Given the description of an element on the screen output the (x, y) to click on. 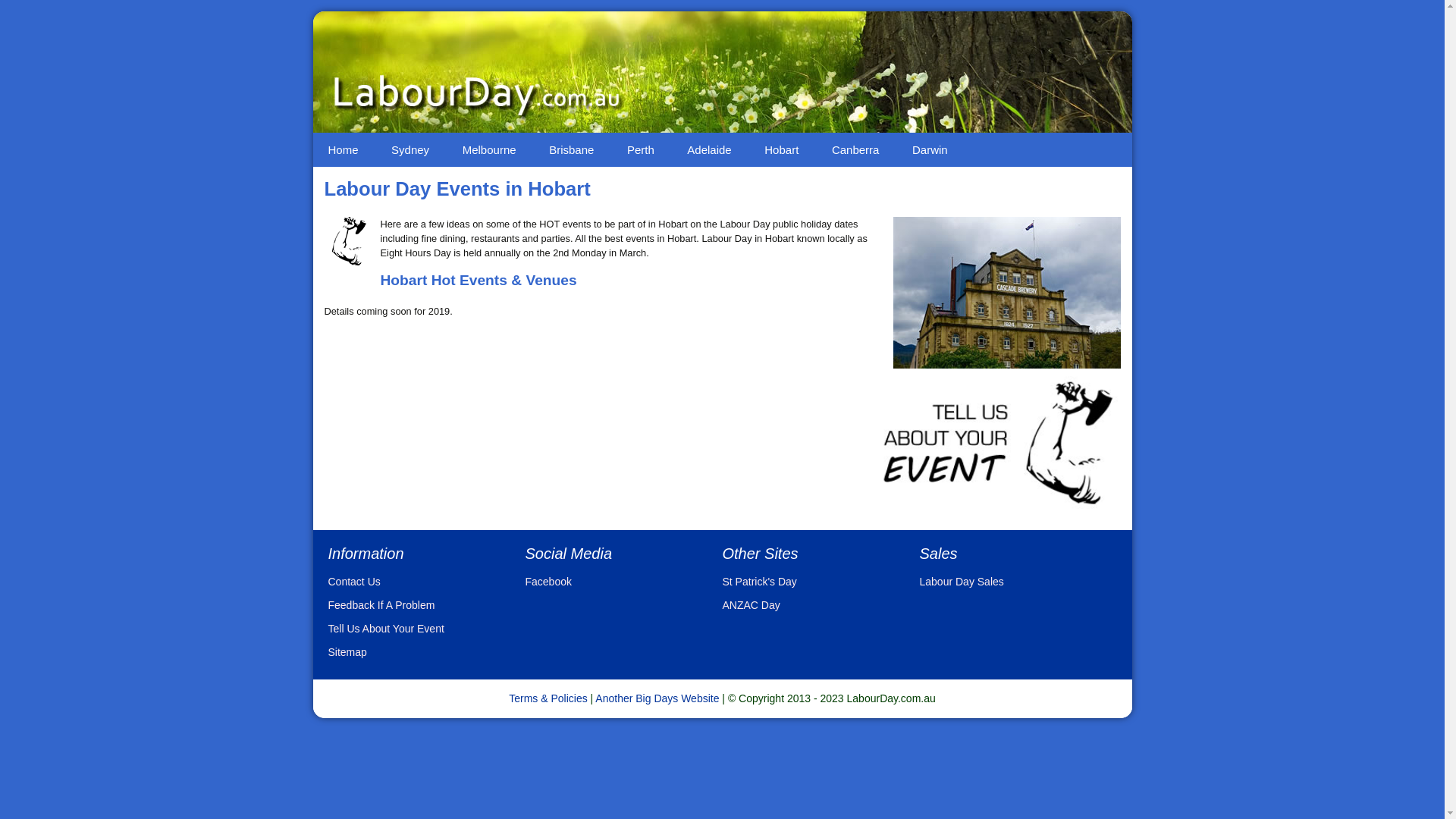
St Patrick's Day Element type: text (758, 581)
Terms & Policies Element type: text (547, 698)
Tell Us About Your Event Element type: text (385, 628)
Darwin Element type: text (930, 149)
Facebook Element type: text (547, 581)
Skip to content Element type: text (344, 139)
Contact Us Element type: text (353, 581)
Canberra Element type: text (855, 149)
Perth Element type: text (640, 149)
Brisbane Element type: text (570, 149)
ANZAC Day Element type: text (750, 605)
Hobart Element type: text (781, 149)
Labour Day Sales Element type: text (961, 581)
Feedback If A Problem Element type: text (380, 605)
Sydney Element type: text (410, 149)
Home Element type: text (342, 149)
Another Big Days Website Element type: text (656, 698)
Adelaide Element type: text (708, 149)
Melbourne Element type: text (489, 149)
Sitemap Element type: text (346, 652)
